Given the description of an element on the screen output the (x, y) to click on. 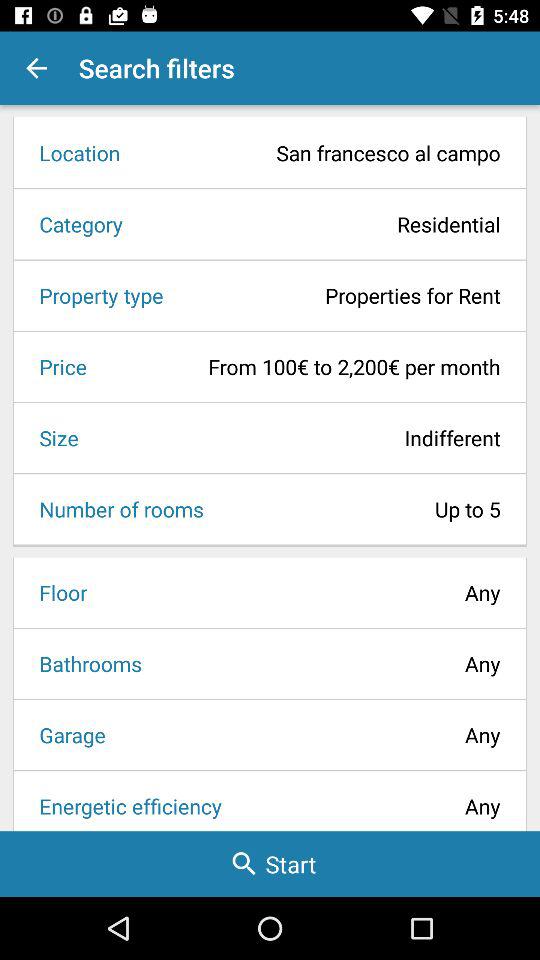
select icon next to the any (84, 663)
